Given the description of an element on the screen output the (x, y) to click on. 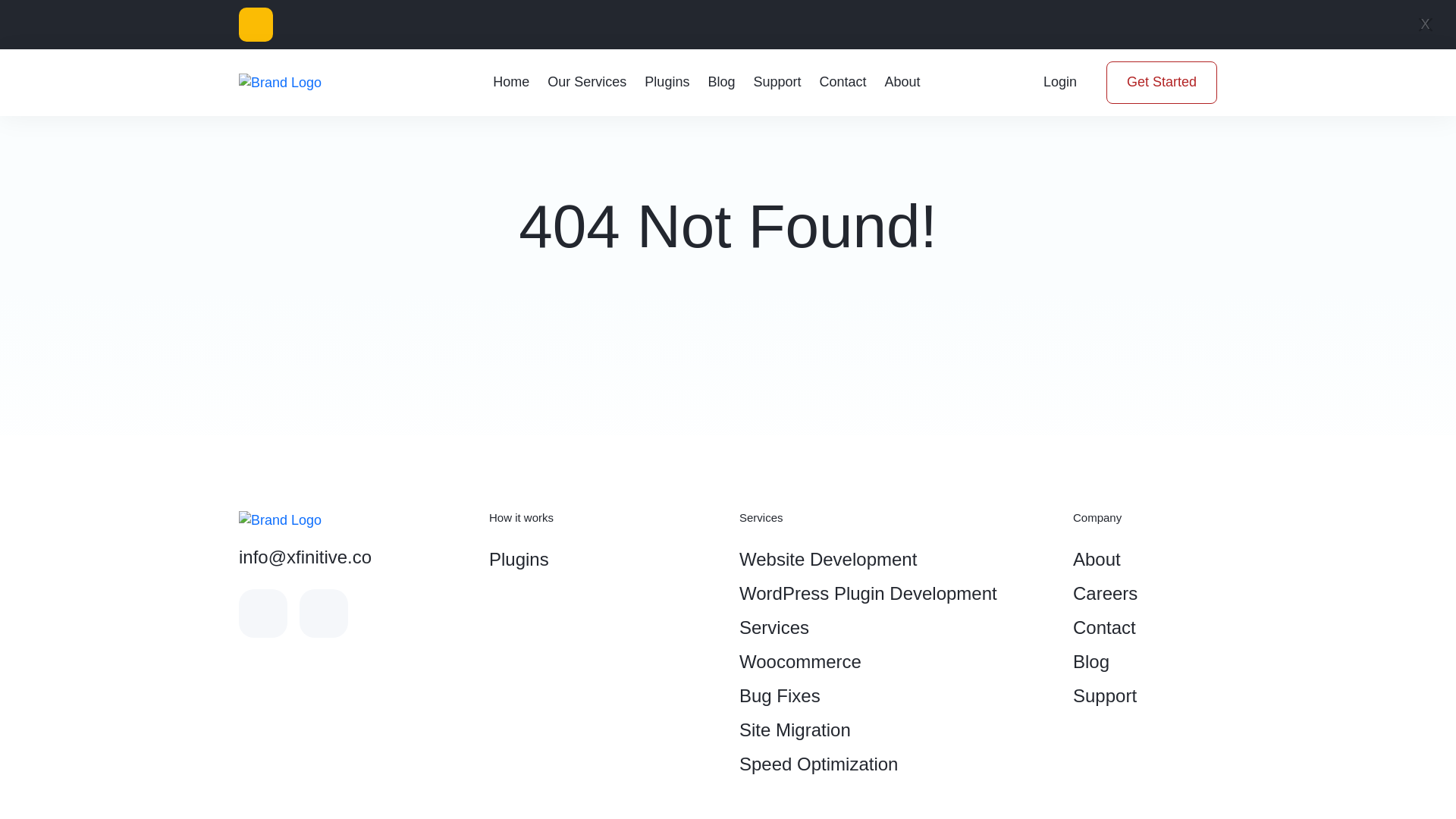
Bug Fixes (894, 695)
Support (776, 82)
Speed Optimization (894, 763)
Plugins (666, 82)
Login (1060, 82)
Home (510, 82)
Support (1145, 695)
Plugins (602, 559)
Contact (1145, 627)
Website Development (894, 559)
Site Migration (894, 729)
About (1145, 559)
Our Services (586, 82)
Blog (721, 82)
Contact (842, 82)
